Given the description of an element on the screen output the (x, y) to click on. 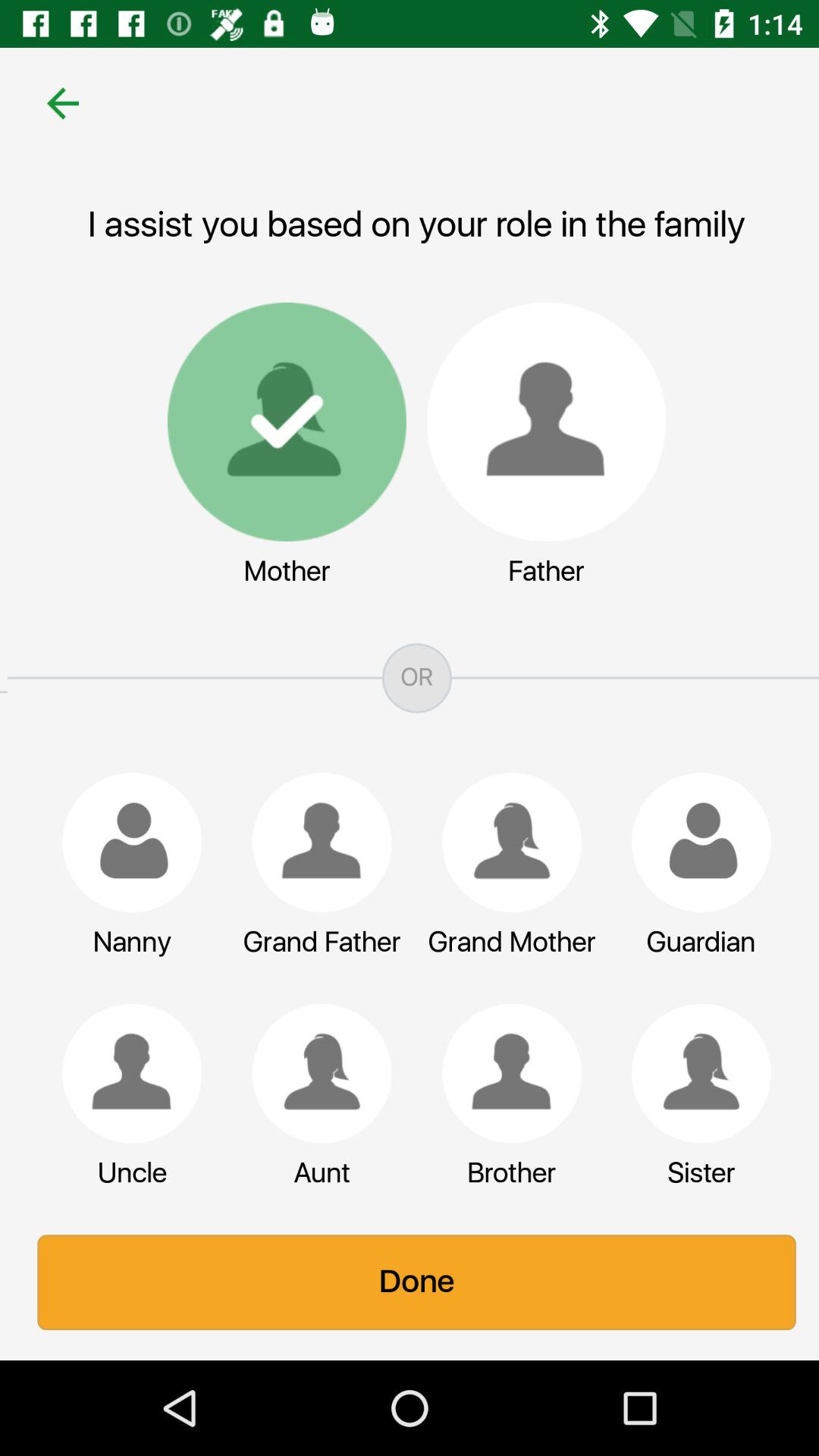
select grand father (314, 842)
